Given the description of an element on the screen output the (x, y) to click on. 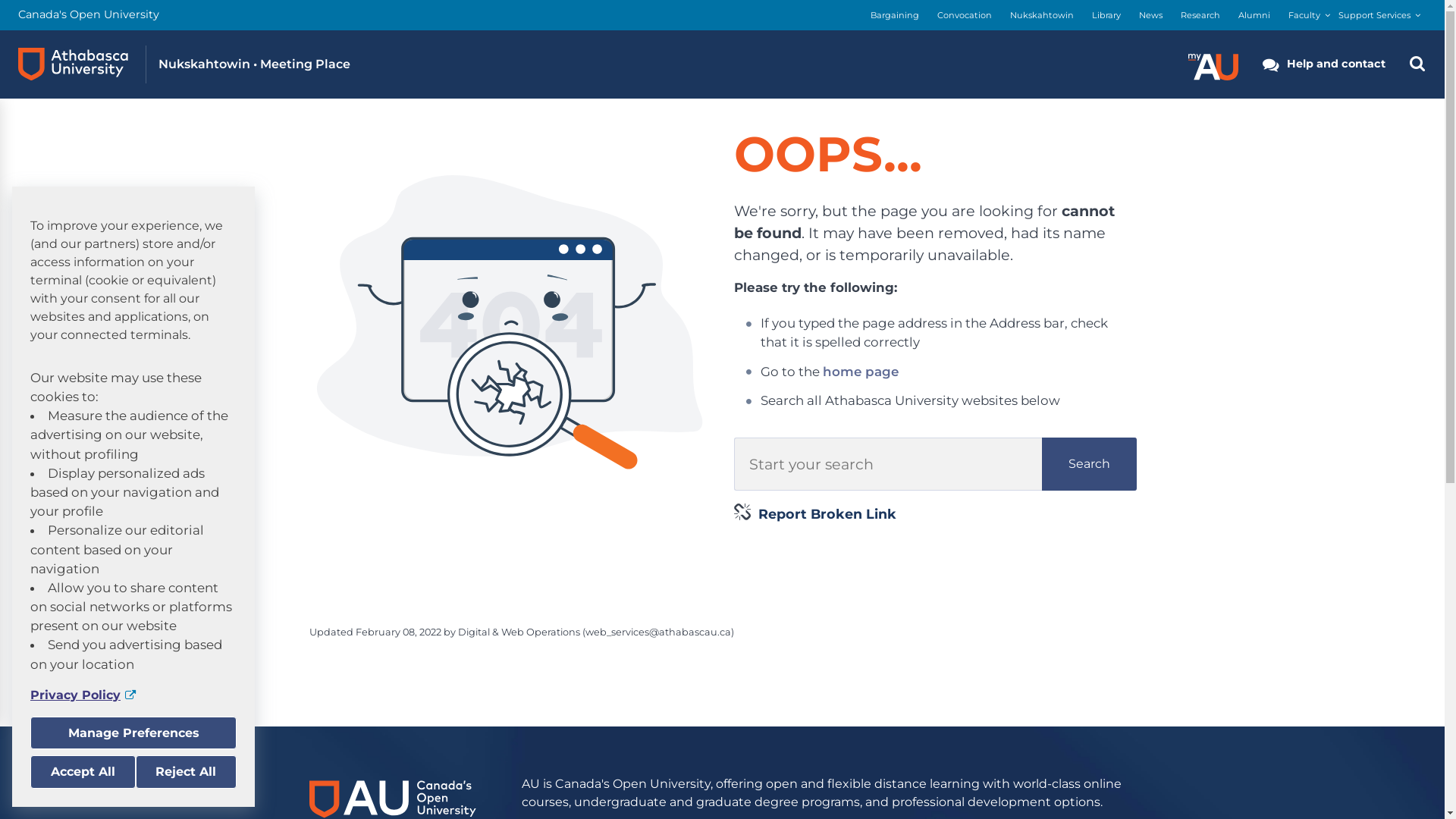
Nukskahtowin Element type: text (1041, 15)
Alumni Element type: text (1254, 15)
Faculty Element type: text (1304, 15)
Library Element type: text (1106, 15)
Athabasca University logo Element type: text (73, 64)
Support Services Element type: text (1374, 15)
home page Element type: text (860, 371)
Manage Preferences Element type: text (133, 732)
Help and contact Element type: text (1323, 64)
News Element type: text (1150, 15)
Search the Athabasca University Website Element type: hover (1417, 64)
Bargaining Element type: text (894, 15)
Convocation Element type: text (964, 15)
Research Element type: text (1200, 15)
Search Element type: text (1088, 463)
Reject All Element type: text (185, 771)
Accept All Element type: text (82, 771)
Privacy Policy Element type: text (133, 695)
